Given the description of an element on the screen output the (x, y) to click on. 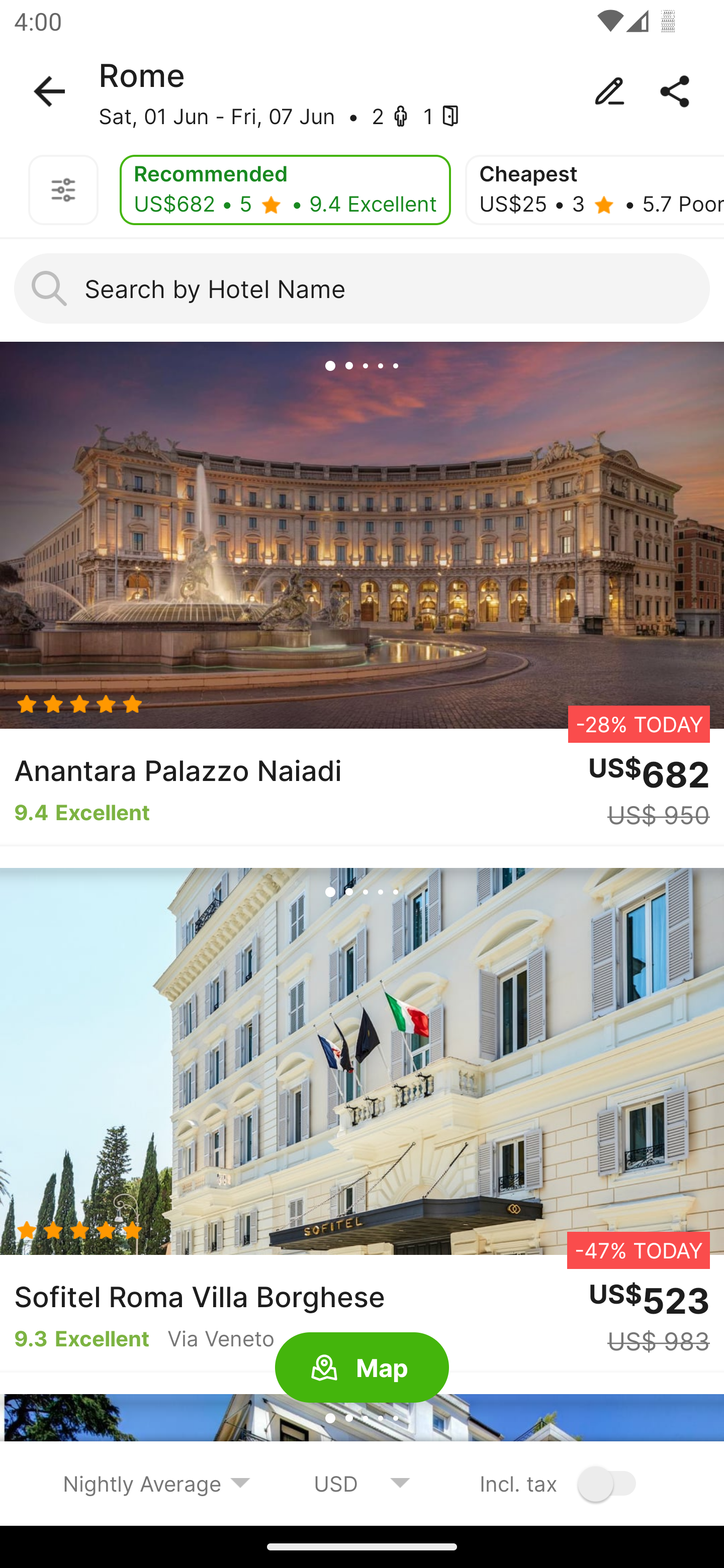
Rome Sat, 01 Jun - Fri, 07 Jun  •  2 -  1 - (361, 91)
Recommended  US$682  • 5 - • 9.4 Excellent (285, 190)
Cheapest US$25  • 3 - • 5.7 Poor (594, 190)
Search by Hotel Name  (361, 288)
Map  (361, 1367)
Nightly Average (156, 1482)
USD (361, 1482)
